Given the description of an element on the screen output the (x, y) to click on. 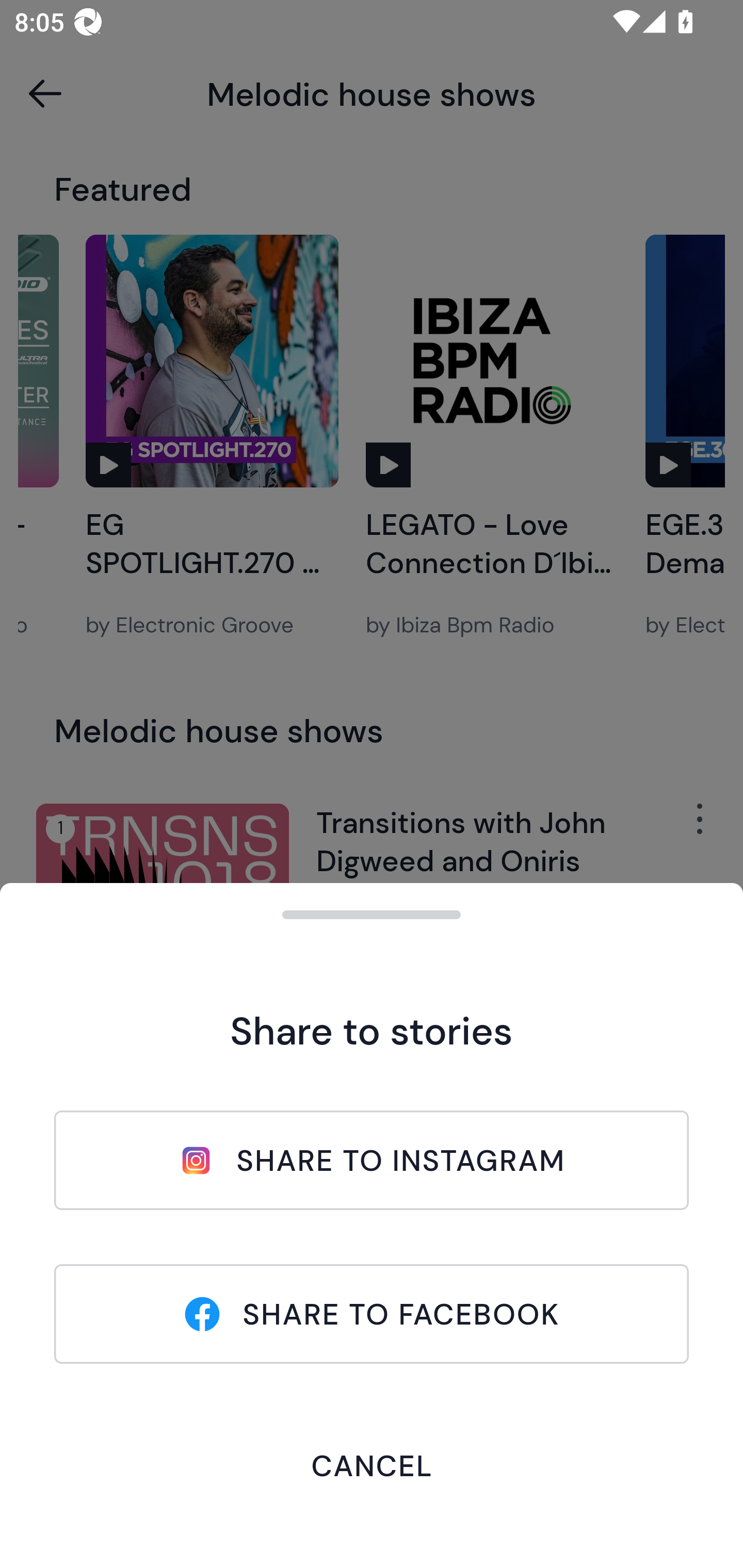
Share to Instagram SHARE TO INSTAGRAM (371, 1160)
Share to Facebook SHARE TO FACEBOOK (371, 1313)
Cancel CANCEL (371, 1465)
